Given the description of an element on the screen output the (x, y) to click on. 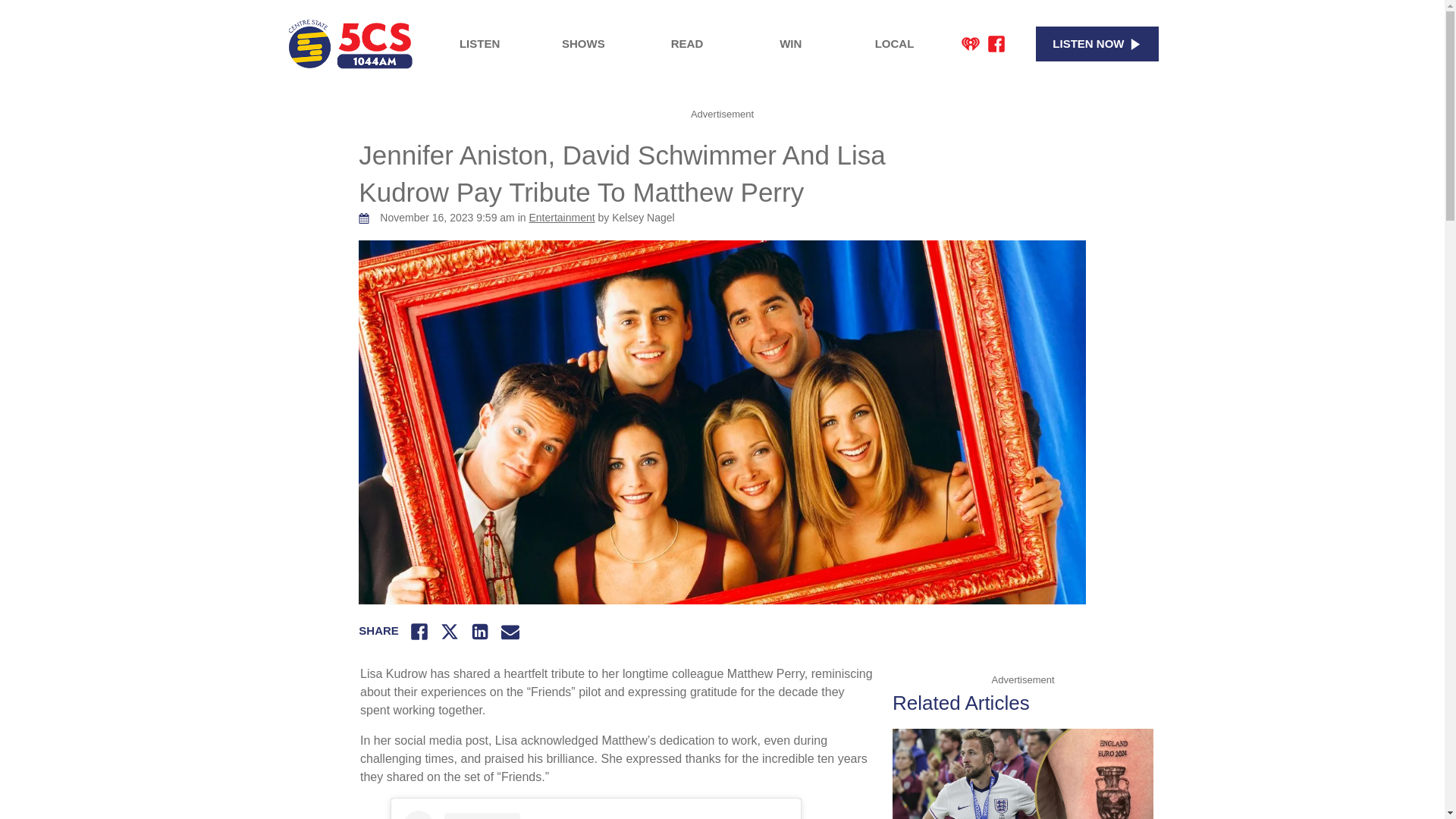
SHOWS (582, 43)
LISTEN (479, 43)
iHeart (969, 44)
LOCAL (894, 43)
LISTEN NOW (1096, 44)
WIN (790, 43)
READ (686, 43)
Facebook (996, 44)
